Given the description of an element on the screen output the (x, y) to click on. 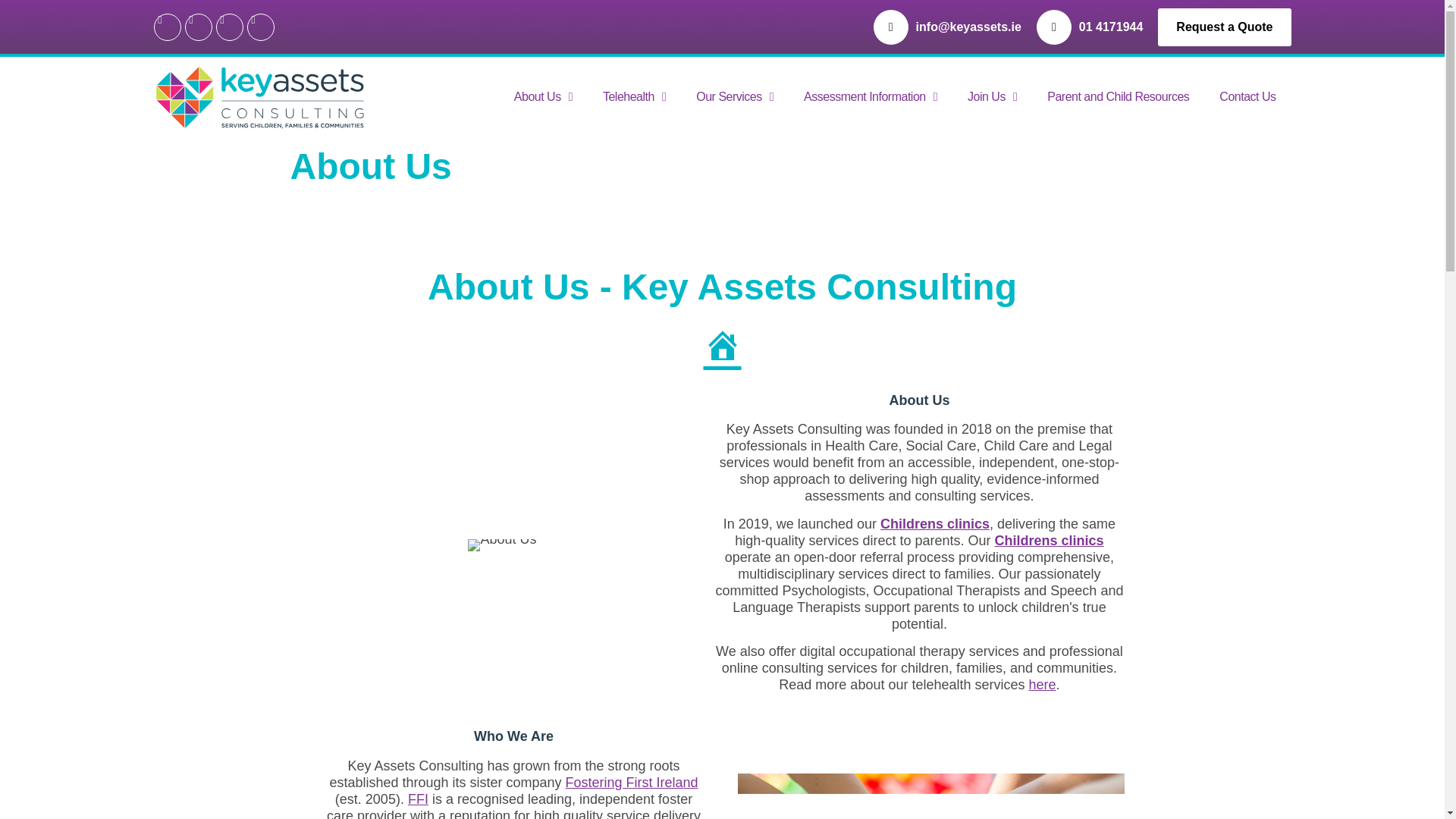
Parent and Child Resources (1118, 96)
Join Us (992, 96)
Our Services (735, 96)
Request a Quote (1223, 26)
Telehealth (634, 96)
Assessment Information (870, 96)
Who We Are (930, 796)
01 4171944 (1110, 26)
About Us (543, 96)
Contact Us (1247, 96)
